Given the description of an element on the screen output the (x, y) to click on. 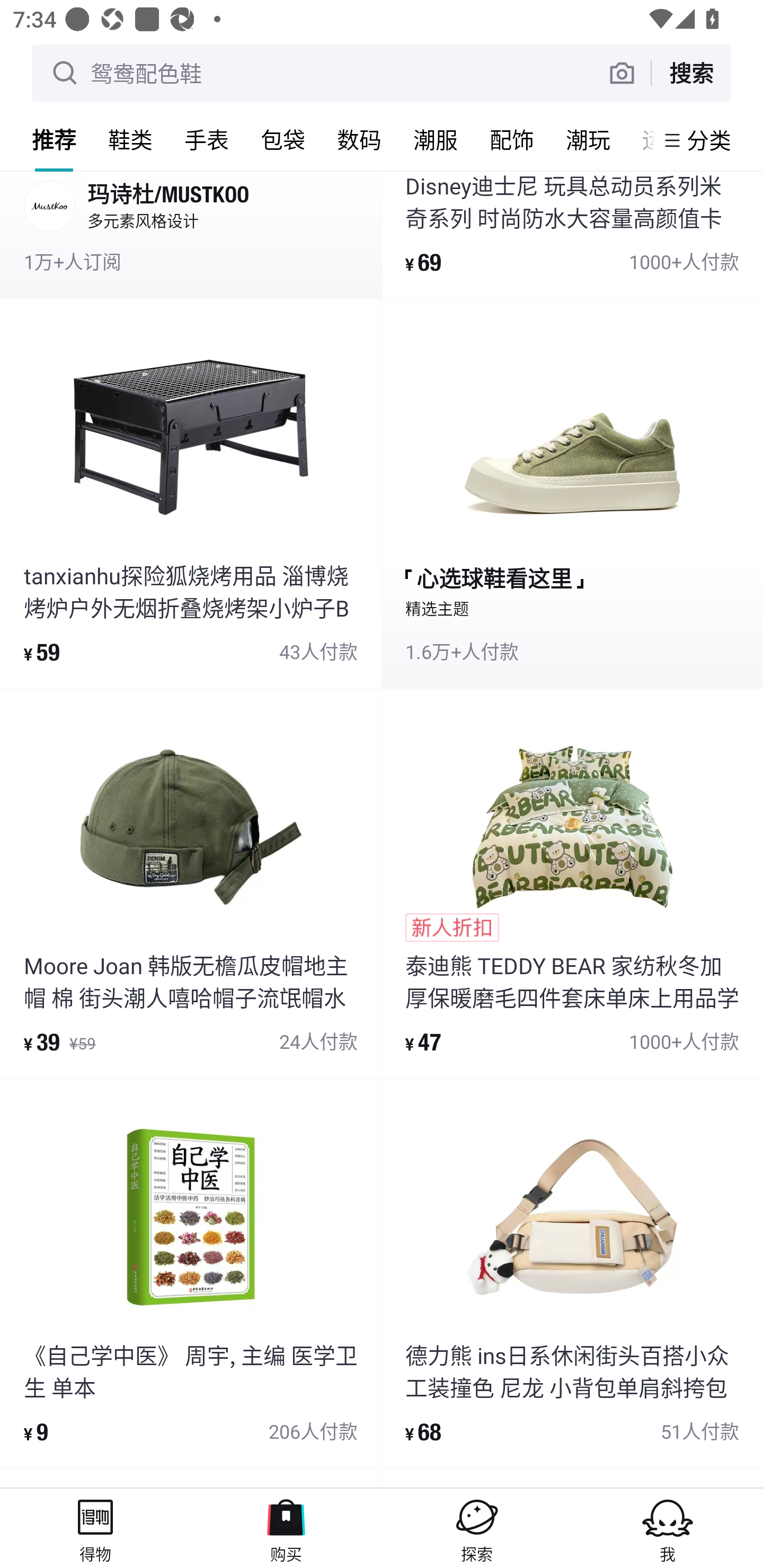
搜索 (690, 72)
推荐 (54, 139)
鞋类 (130, 139)
手表 (206, 139)
包袋 (282, 139)
数码 (359, 139)
潮服 (435, 139)
配饰 (511, 139)
潮玩 (588, 139)
分类 (708, 139)
玛诗杜/MUSTKOO 多元素风格设计 1万+人订阅 (190, 233)
心选球鞋看这里 精选主题 1.6万+人付款 (572, 493)
product_item 《自己学中医》 周宇, 主编 医学卫
生 单本 ¥ 9 206人付款 (190, 1272)
得物 (95, 1528)
购买 (285, 1528)
探索 (476, 1528)
我 (667, 1528)
